Given the description of an element on the screen output the (x, y) to click on. 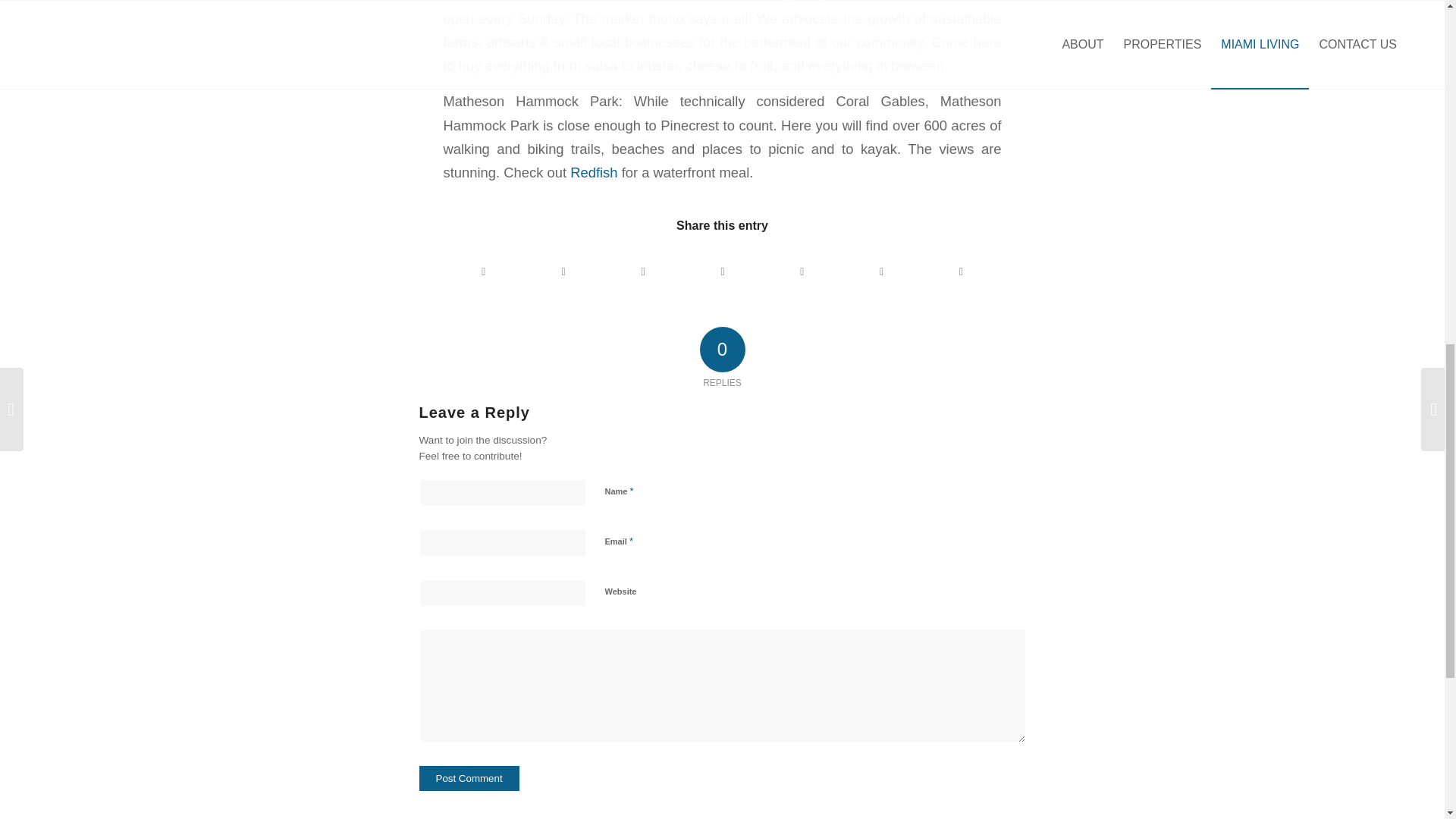
Redfish (593, 172)
Post Comment (468, 778)
Post Comment (468, 778)
Pinecrest Farmers Market: (526, 1)
